Given the description of an element on the screen output the (x, y) to click on. 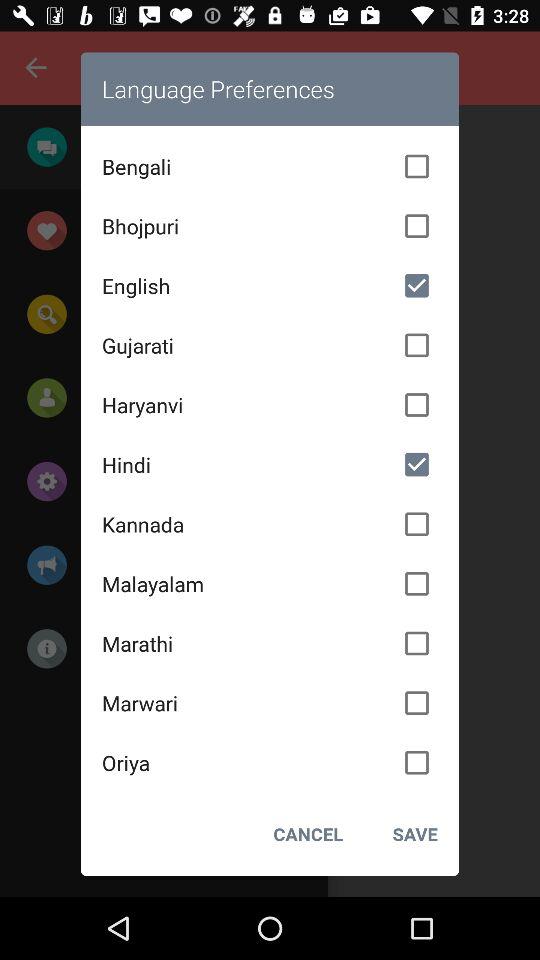
open the item below gujarati icon (270, 405)
